Given the description of an element on the screen output the (x, y) to click on. 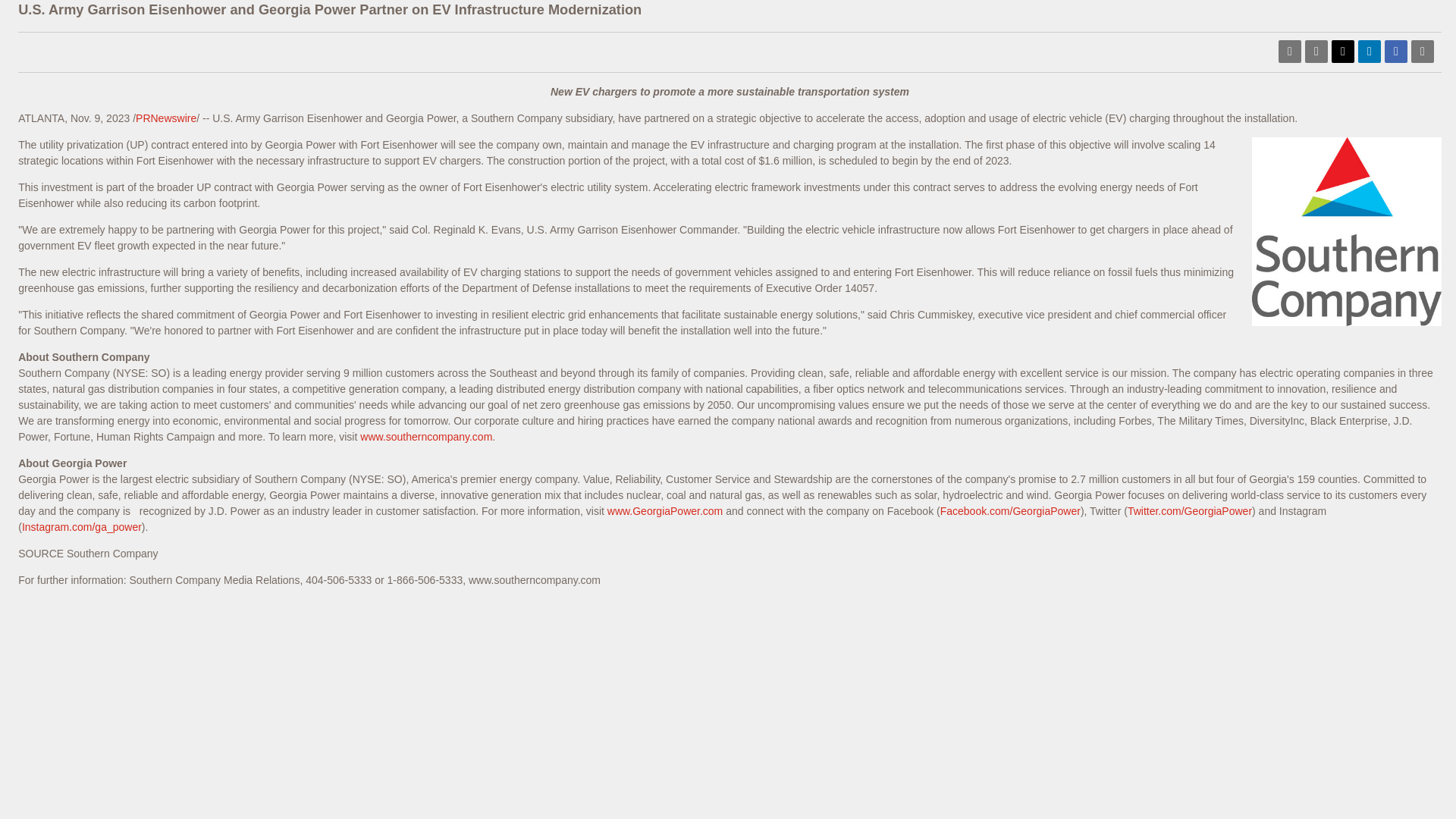
rss (1289, 51)
Facebook Share (1395, 51)
print (1422, 51)
Facebook Like (1131, 49)
www.GeorgiaPower.com (665, 510)
email (1315, 51)
www.southerncompany.com (425, 436)
PRNewswire (165, 118)
Twitter Share (1343, 51)
Linkedin Share (1369, 51)
